Given the description of an element on the screen output the (x, y) to click on. 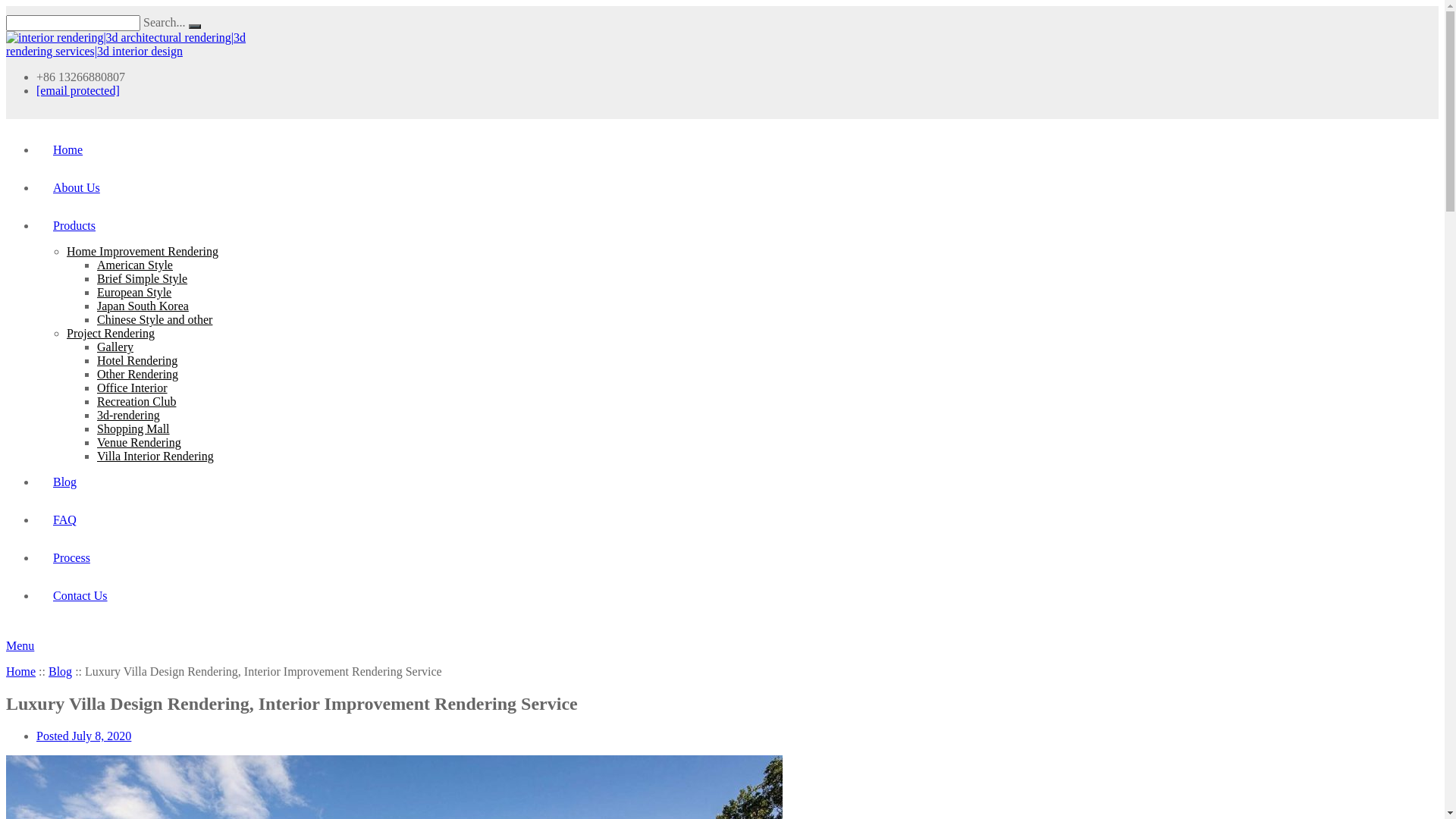
Gallery Element type: text (115, 346)
Japan South Korea Element type: text (142, 305)
Other Rendering Element type: text (137, 373)
Posted July 8, 2020 Element type: text (83, 735)
Shopping Mall Element type: text (133, 428)
Brief Simple Style Element type: text (142, 278)
Recreation Club Element type: text (136, 401)
Villa Interior Rendering Element type: text (155, 455)
Contact Us Element type: text (76, 595)
Process Element type: text (67, 557)
Menu Element type: text (20, 645)
About Us Element type: text (72, 187)
Blog Element type: text (60, 671)
Project Rendering Element type: text (110, 332)
Products Element type: text (70, 225)
Venue Rendering Element type: text (139, 442)
Home Element type: text (63, 149)
Blog Element type: text (60, 481)
FAQ Element type: text (60, 519)
Chinese Style and other Element type: text (154, 319)
Office Interior Element type: text (132, 387)
[email protected] Element type: text (77, 90)
European Style Element type: text (134, 291)
Hotel Rendering Element type: text (137, 360)
Home Improvement Rendering Element type: text (142, 250)
Home Element type: text (20, 671)
American Style Element type: text (134, 264)
3d-rendering Element type: text (128, 414)
